Given the description of an element on the screen output the (x, y) to click on. 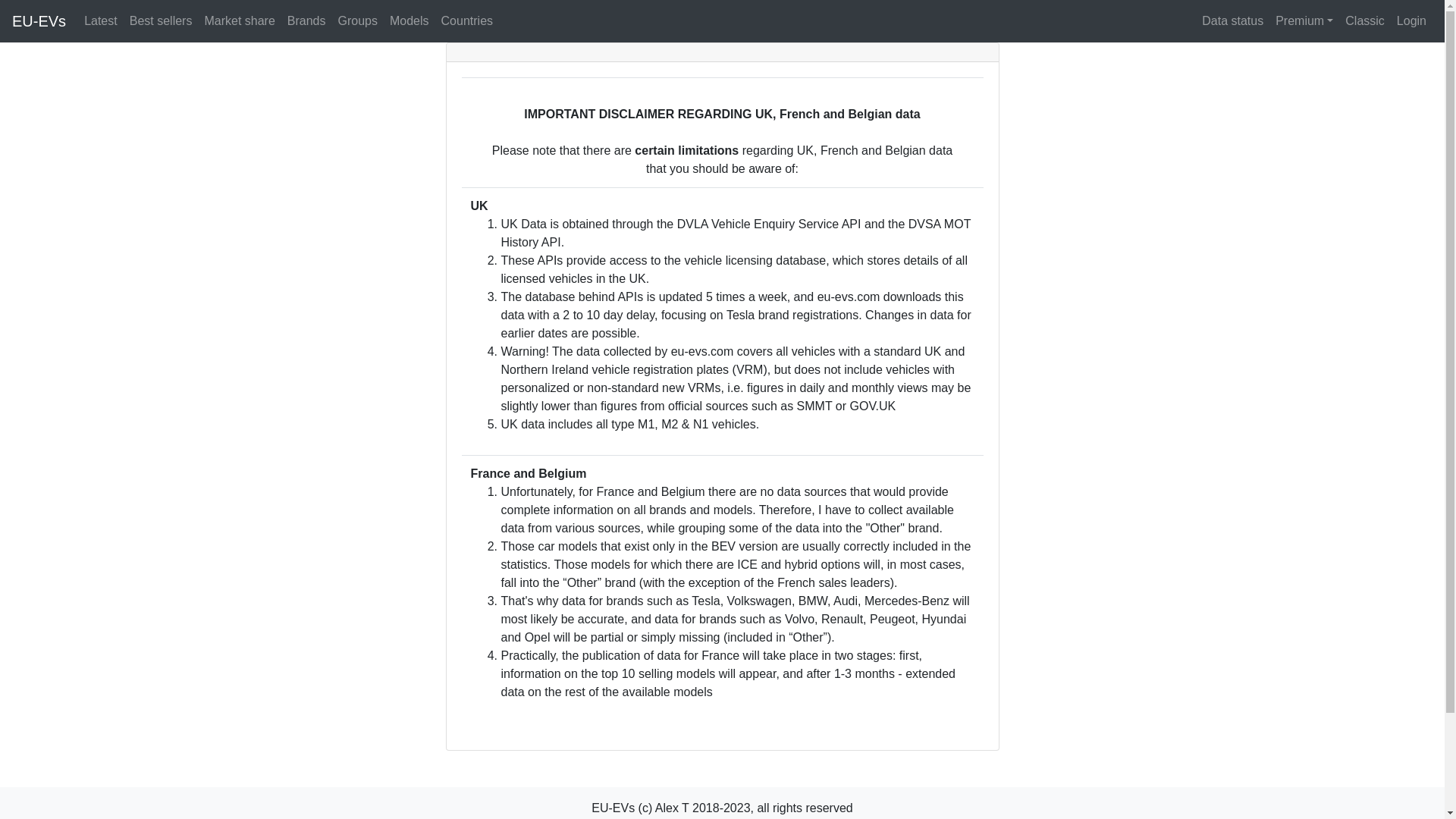
Countries (467, 20)
EU-EVs (38, 20)
Login (1411, 20)
Premium (1304, 20)
Data status (1232, 20)
Classic (1364, 20)
